Given the description of an element on the screen output the (x, y) to click on. 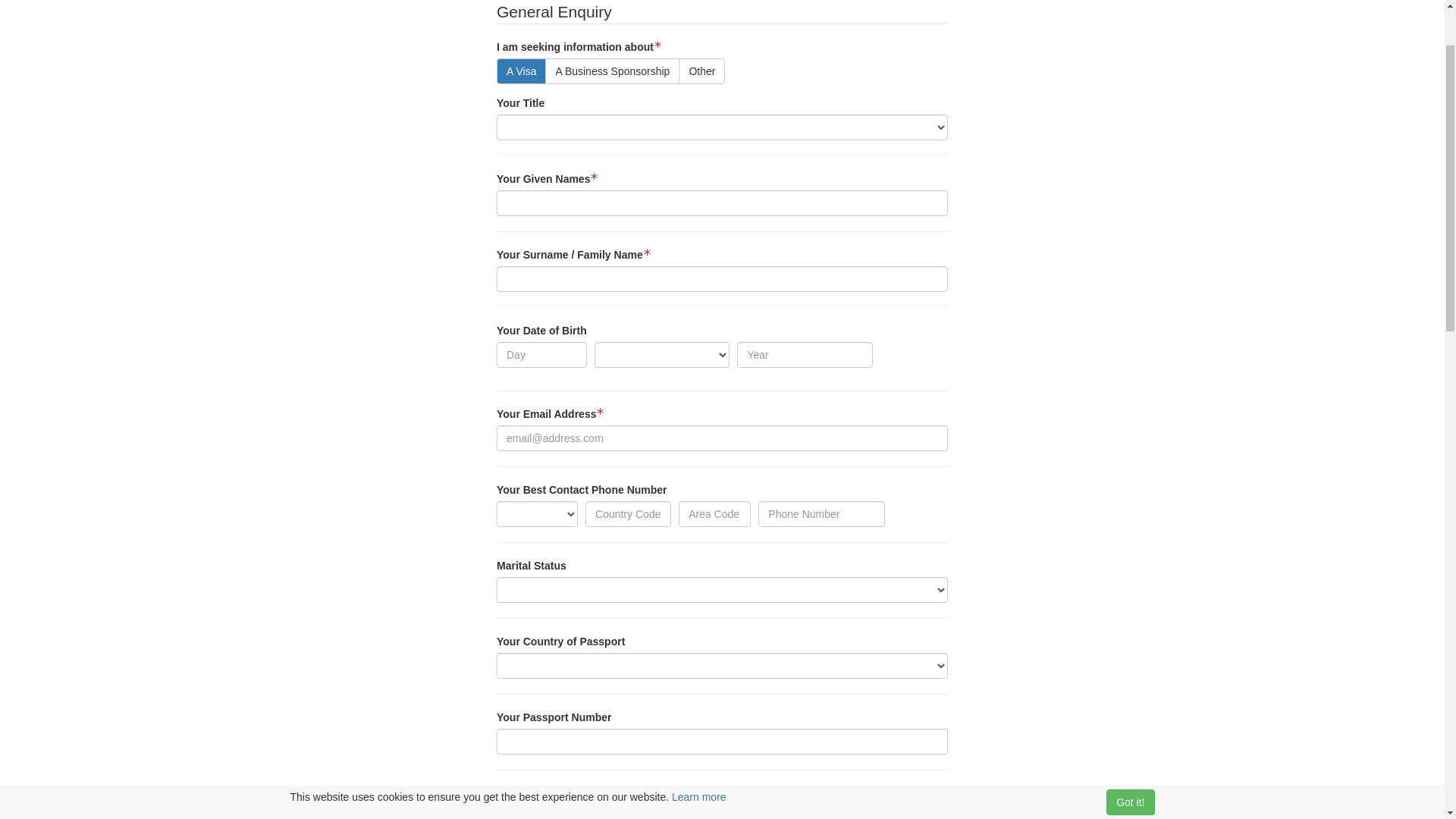
A Visa Element type: text (521, 169)
Other Element type: text (701, 169)
A Business Sponsorship Element type: text (612, 169)
